Given the description of an element on the screen output the (x, y) to click on. 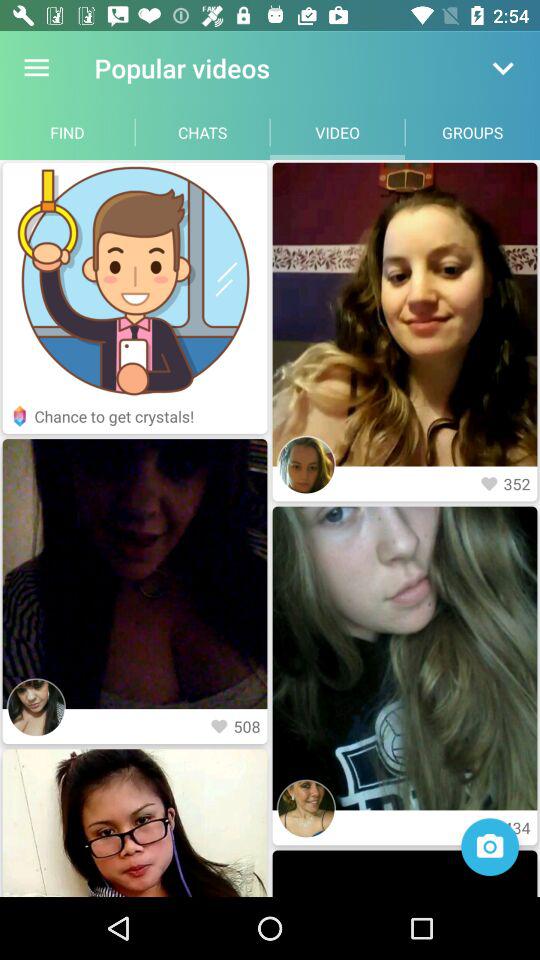
click item next to the video (472, 132)
